Given the description of an element on the screen output the (x, y) to click on. 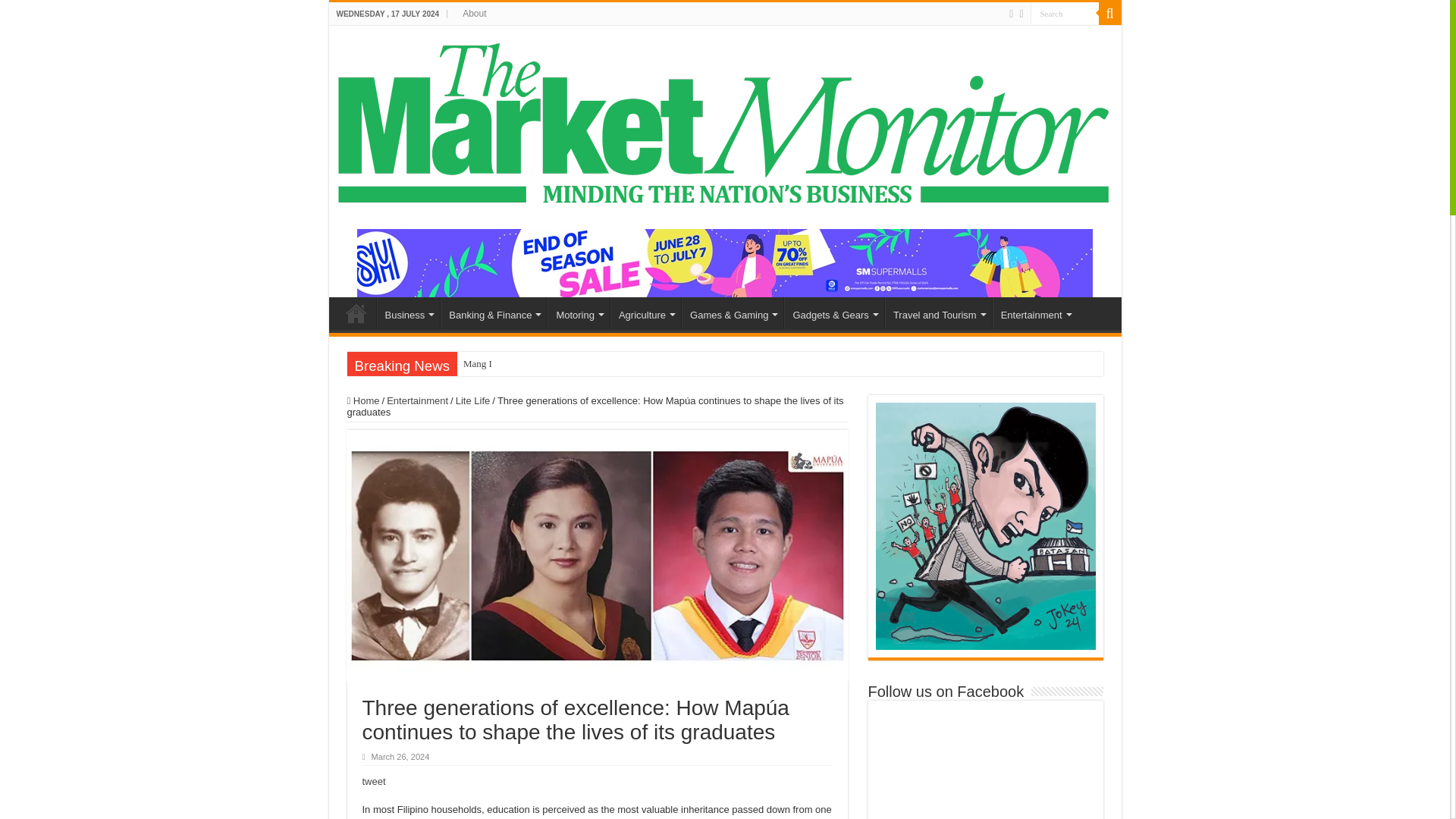
Search (1109, 13)
Home (355, 313)
Search (1063, 13)
About (473, 13)
Search (1063, 13)
Business (407, 313)
Search (1063, 13)
